Given the description of an element on the screen output the (x, y) to click on. 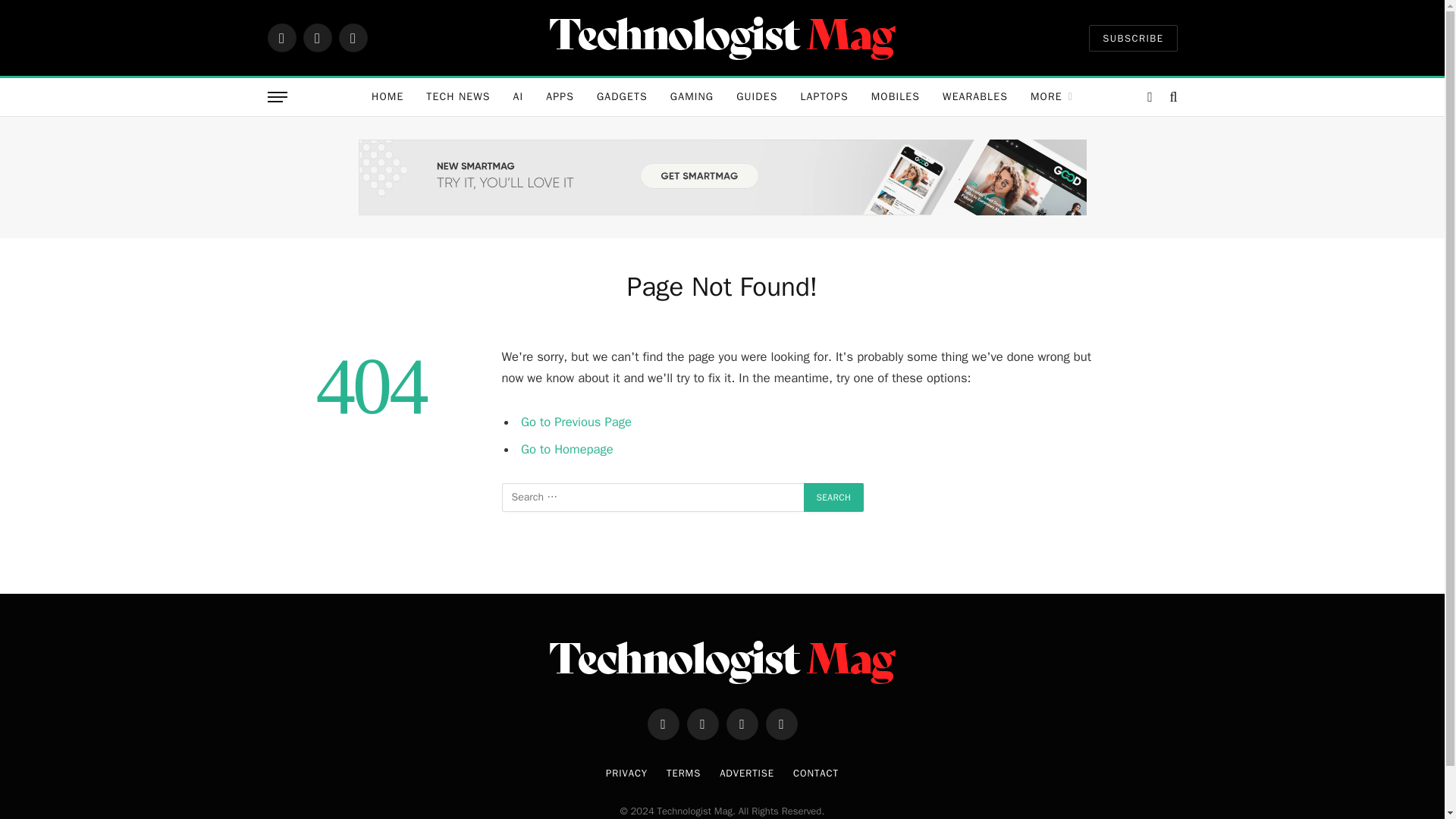
Facebook (280, 37)
Search (833, 497)
Switch to Dark Design - easier on eyes. (1149, 97)
Instagram (351, 37)
Search (833, 497)
TECH NEWS (457, 96)
HOME (386, 96)
SUBSCRIBE (1132, 37)
Technologist Mag (722, 37)
APPS (559, 96)
